Given the description of an element on the screen output the (x, y) to click on. 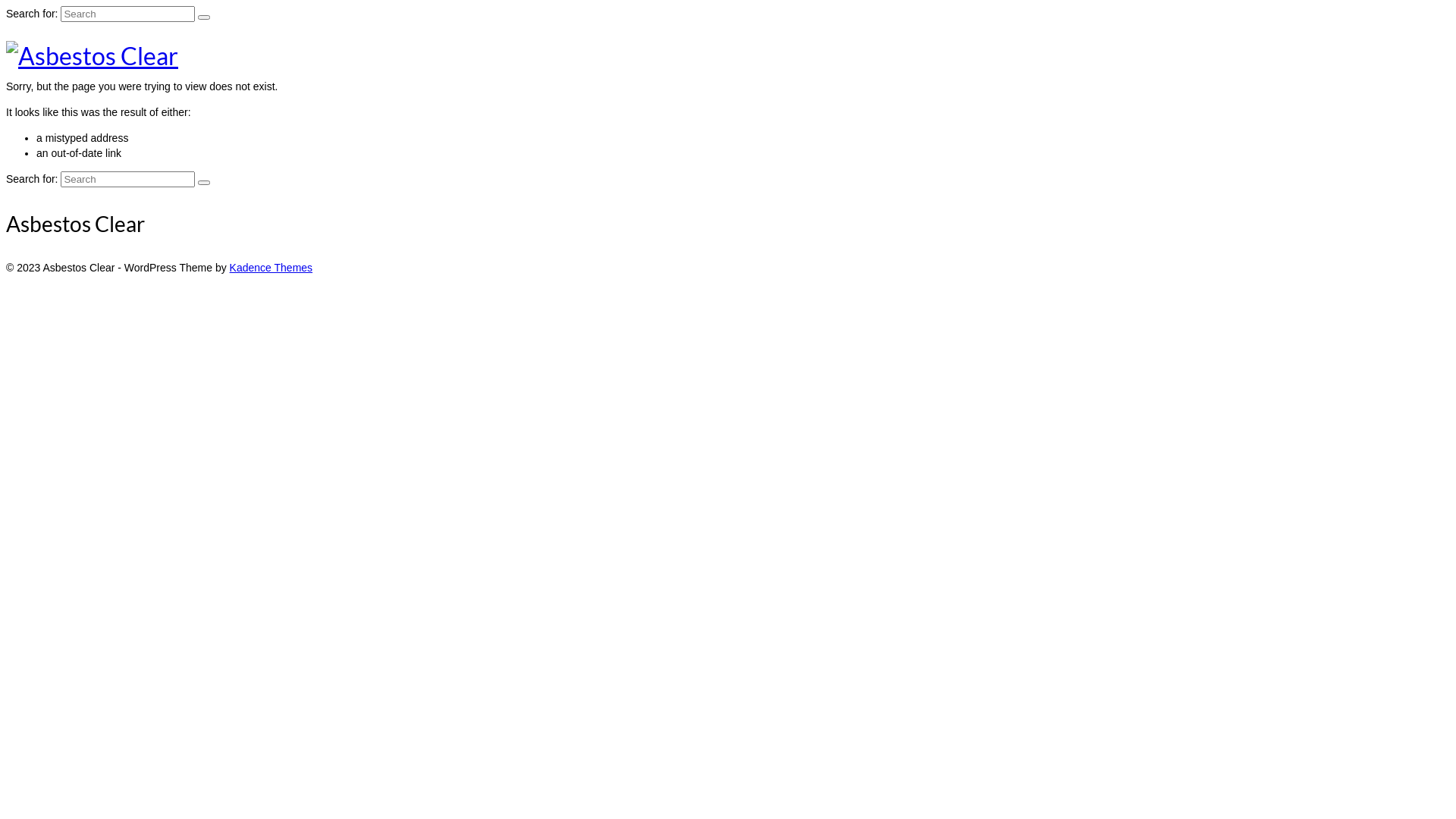
Kadence Themes Element type: text (270, 267)
